Given the description of an element on the screen output the (x, y) to click on. 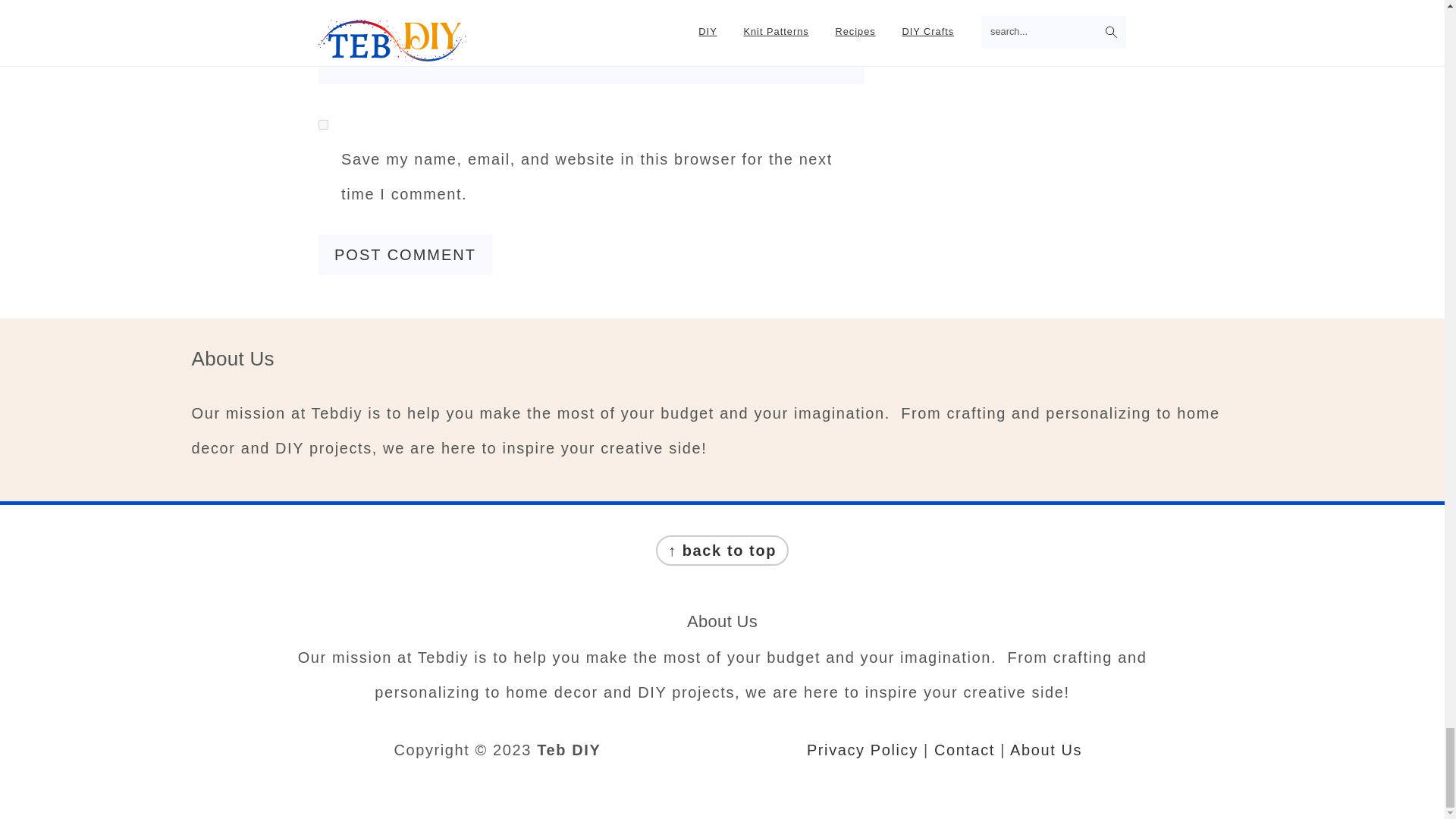
Privacy Policy (862, 750)
Contact (964, 750)
yes (323, 124)
Post Comment (405, 254)
Post Comment (405, 254)
